Given the description of an element on the screen output the (x, y) to click on. 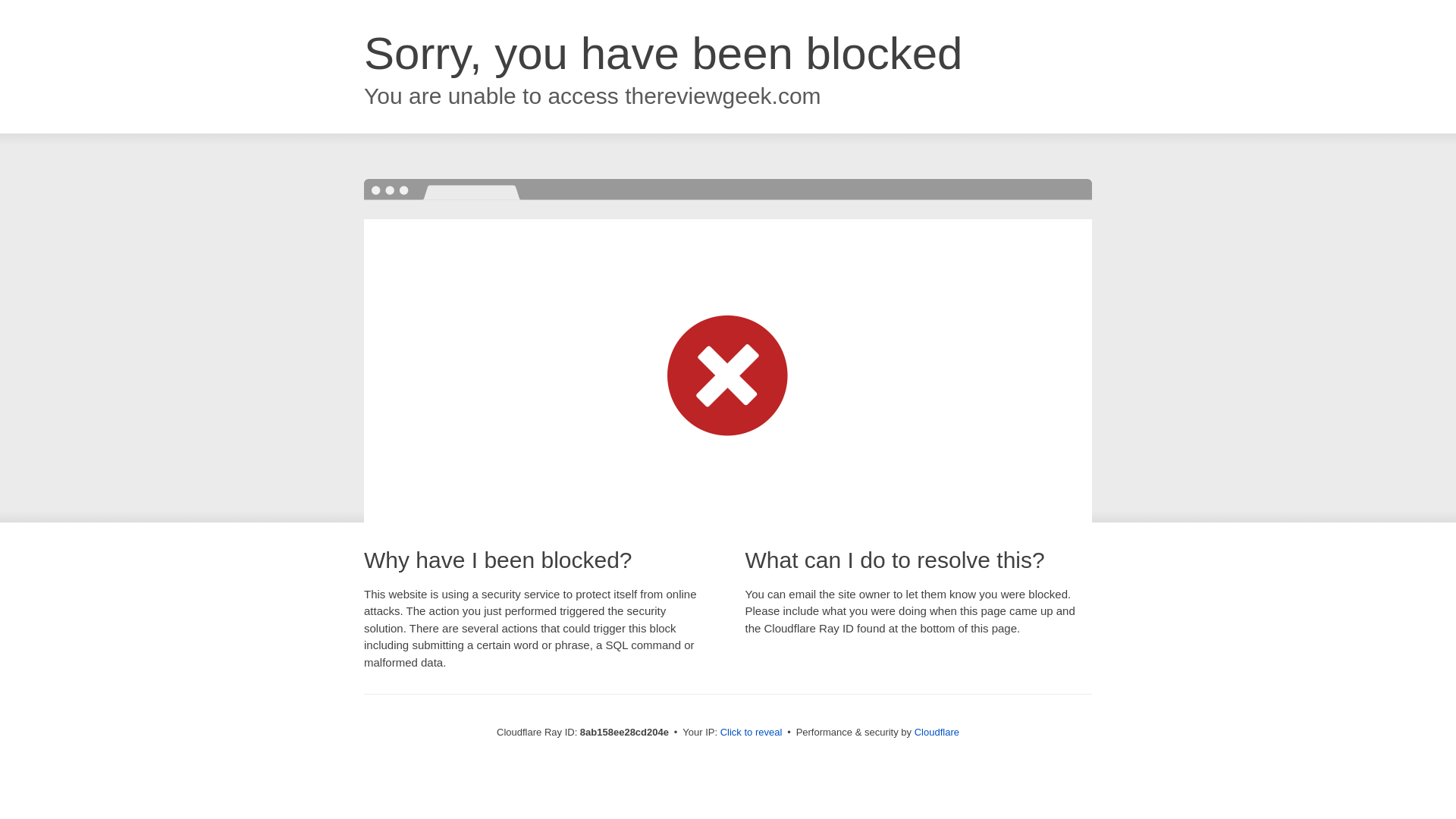
Click to reveal (751, 732)
Cloudflare (936, 731)
